Given the description of an element on the screen output the (x, y) to click on. 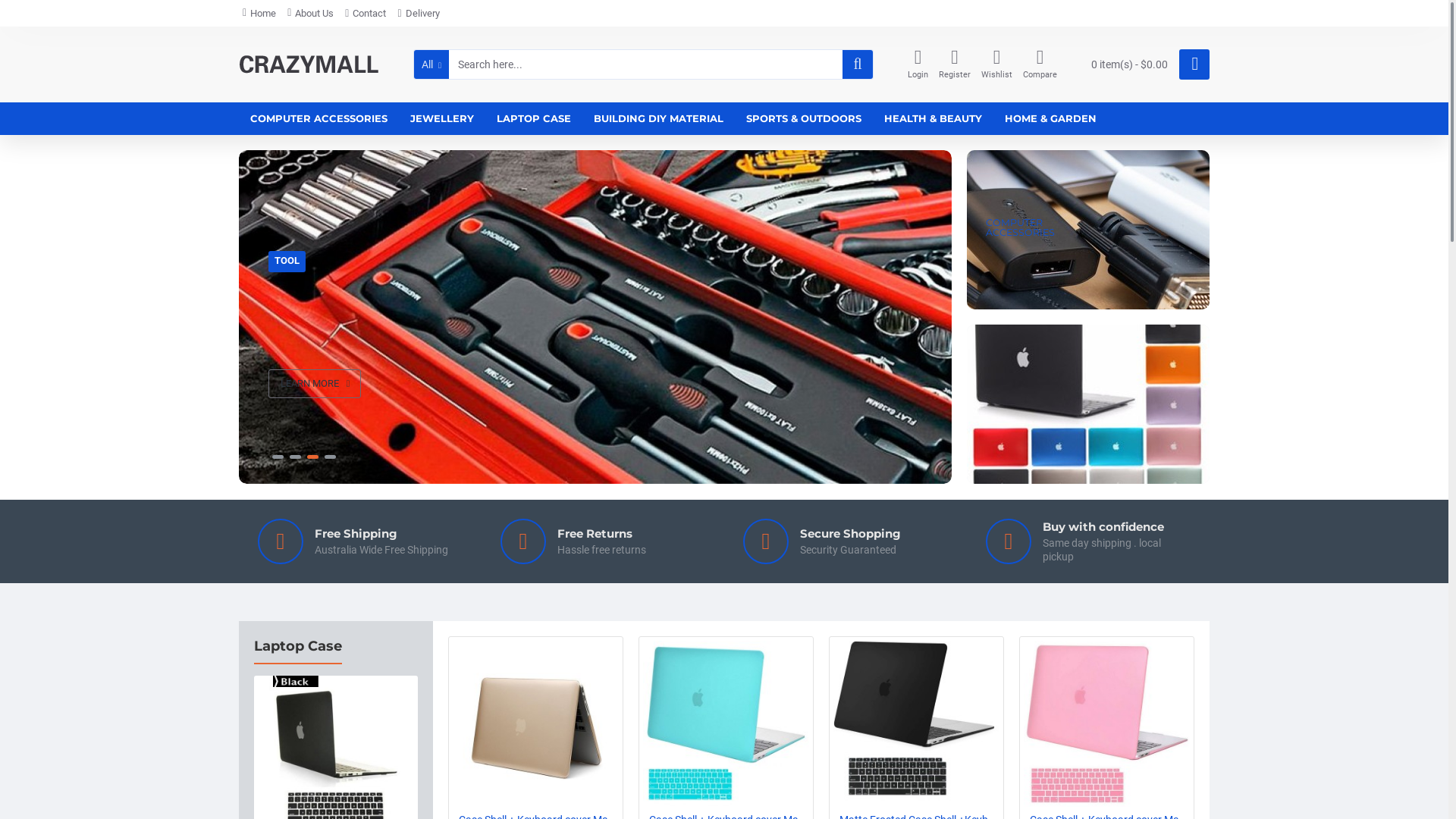
Delivery Element type: text (417, 13)
Laptop Case Element type: text (298, 650)
Register Element type: text (954, 64)
Login Element type: text (917, 64)
Contact Element type: text (365, 13)
JEWELLERY Element type: text (441, 118)
crazymall Element type: hover (308, 64)
Compare Element type: text (1039, 64)
Home Element type: text (258, 13)
LAPTOP CASE Element type: text (533, 118)
COMPUTER ACCESSORIES Element type: text (1087, 229)
LEARN MORE Element type: text (314, 383)
About Us Element type: text (310, 13)
SPORTS & OUTDOORS Element type: text (803, 118)
HEALTH & BEAUTY Element type: text (932, 118)
HOME & GARDEN Element type: text (1050, 118)
Wishlist Element type: text (996, 64)
0 item(s) - $0.00 Element type: text (1144, 64)
BUILDING DIY MATERIAL Element type: text (658, 118)
COMPUTER ACCESSORIES Element type: text (318, 118)
